Given the description of an element on the screen output the (x, y) to click on. 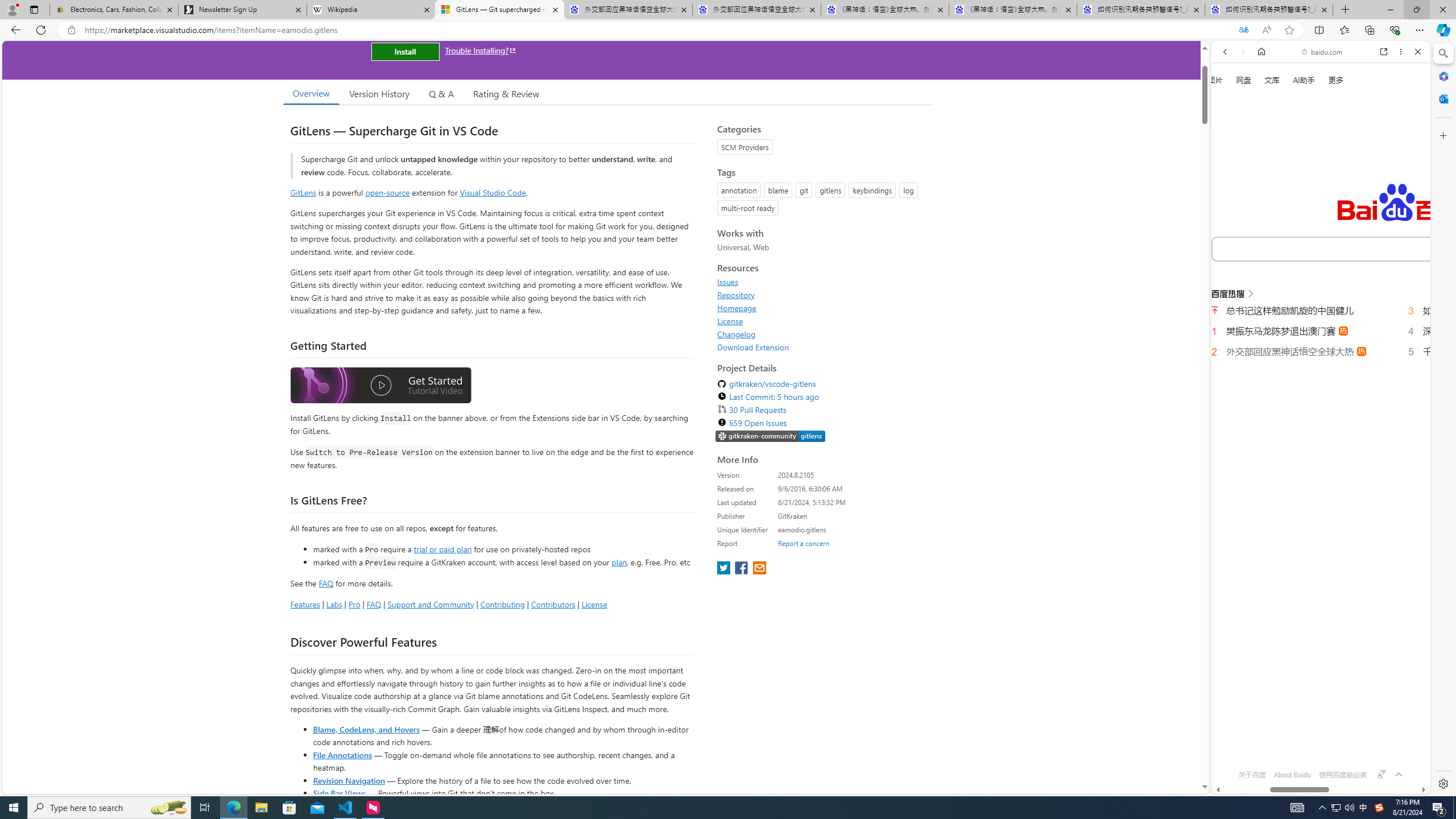
File Annotations (342, 754)
Blame, CodeLens, and Hovers (366, 728)
share extension on twitter (724, 568)
English (Uk) (1320, 353)
Labs (334, 603)
This site scope (1259, 102)
Q & A (441, 92)
Rating & Review (505, 92)
Homepage (820, 307)
